Given the description of an element on the screen output the (x, y) to click on. 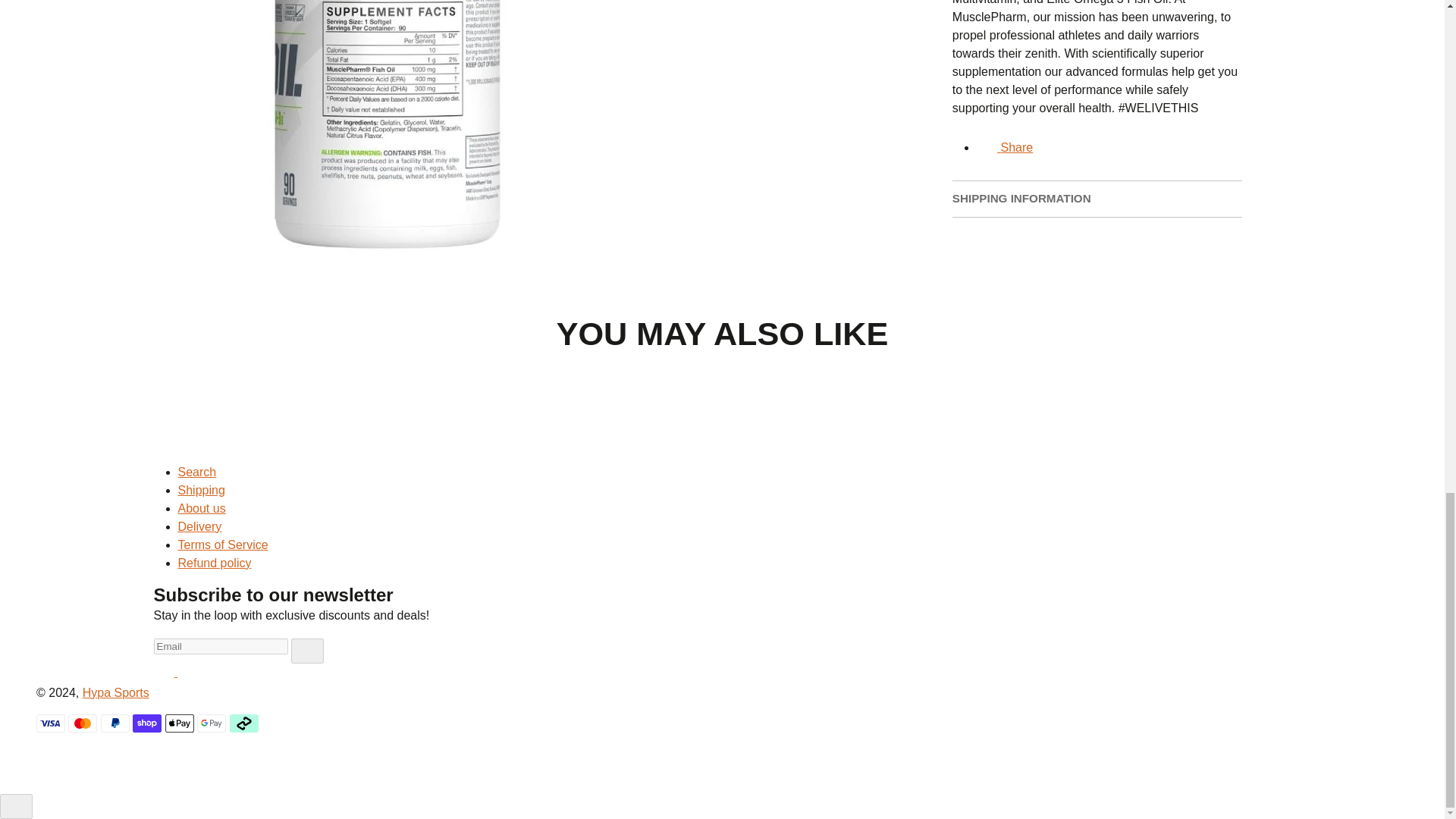
PayPal (114, 723)
Mastercard (82, 723)
Afterpay (244, 723)
Shop Pay (146, 723)
Google Pay (210, 723)
Apple Pay (179, 723)
Visa (50, 723)
